Given the description of an element on the screen output the (x, y) to click on. 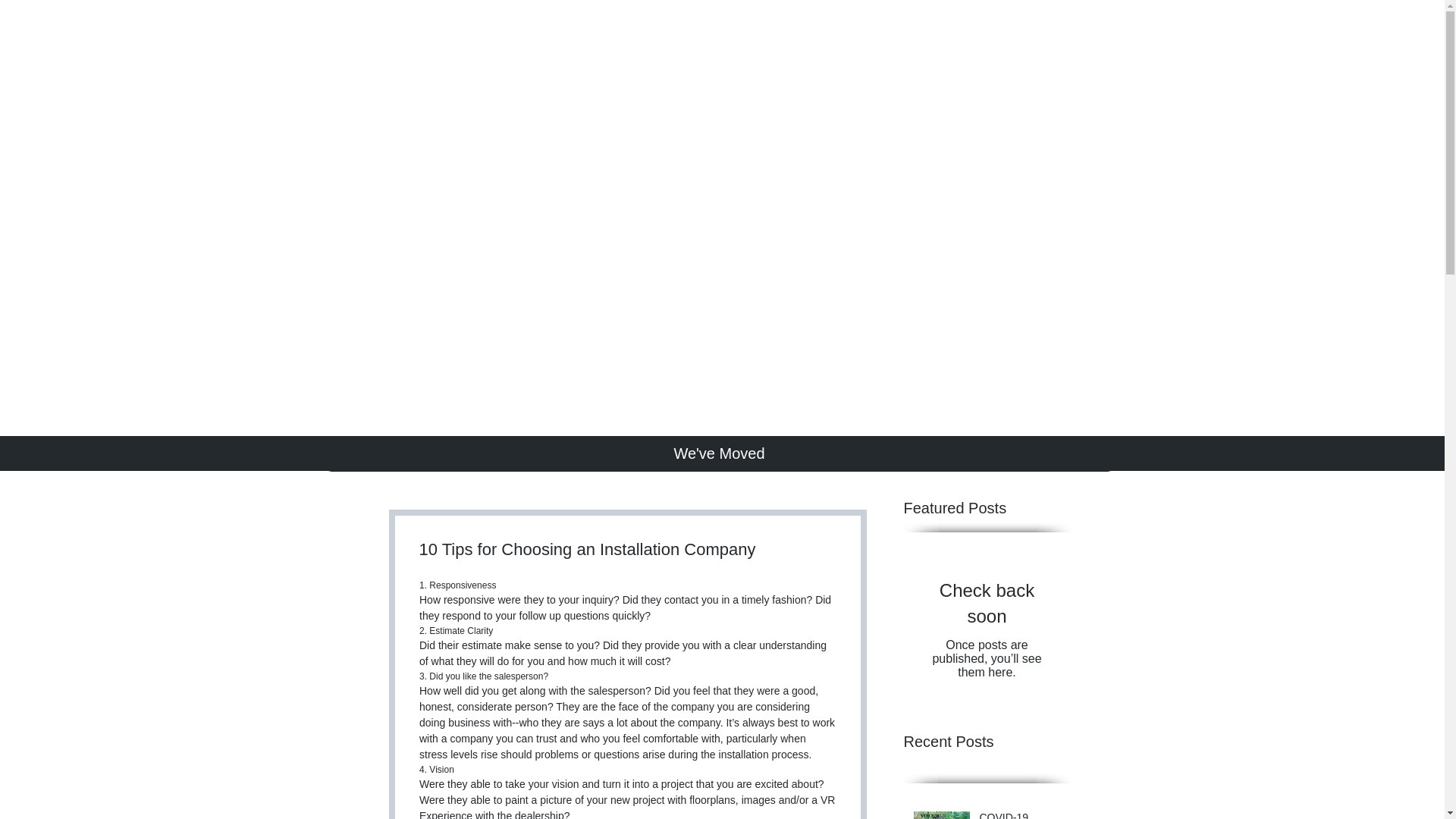
COVID-19 (1020, 814)
We've Moved (719, 453)
